Given the description of an element on the screen output the (x, y) to click on. 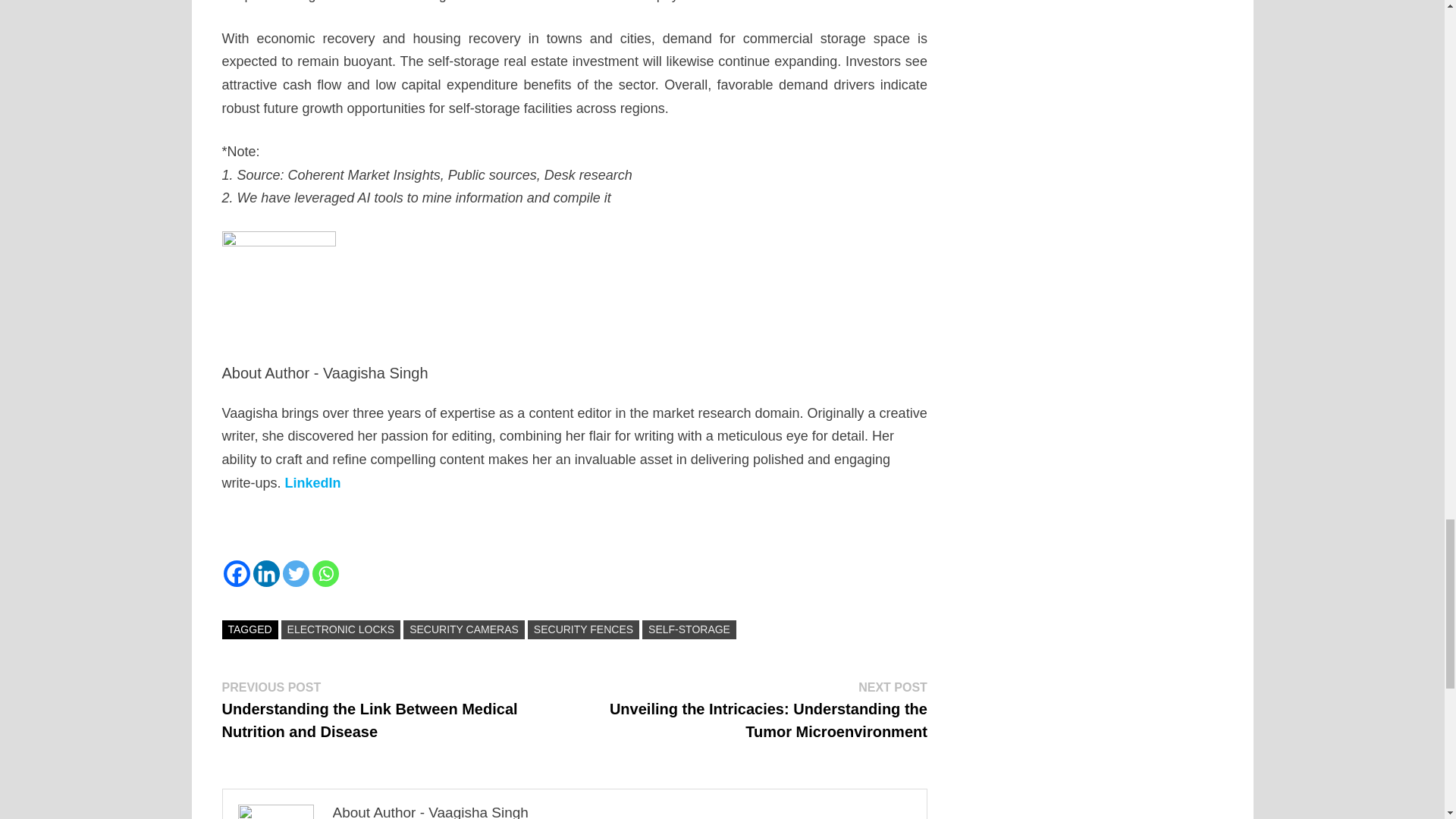
Linkedin (266, 573)
Facebook (235, 573)
Whatsapp (326, 573)
Twitter (295, 573)
